Given the description of an element on the screen output the (x, y) to click on. 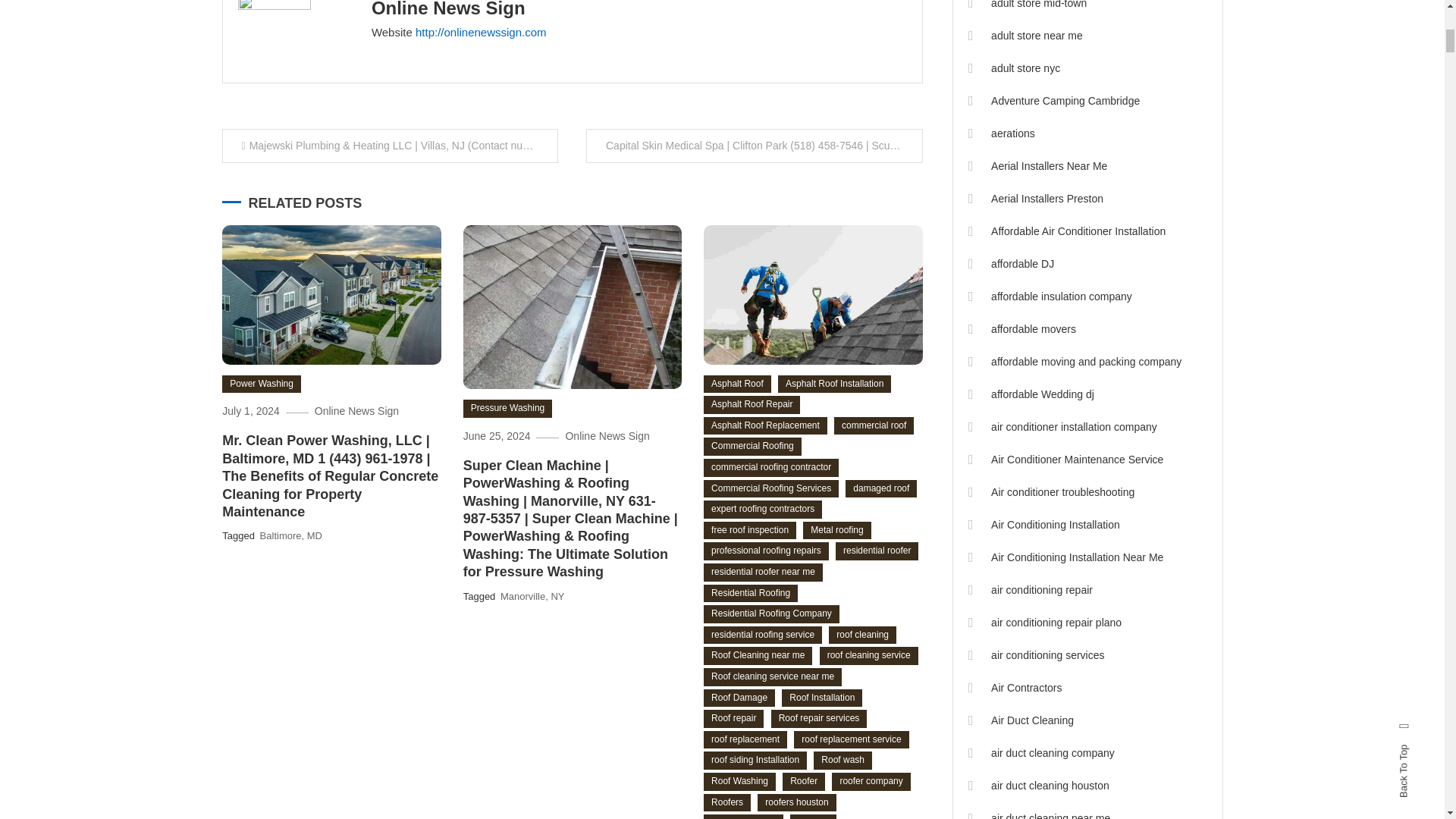
Posts by Online News Sign (448, 9)
